Given the description of an element on the screen output the (x, y) to click on. 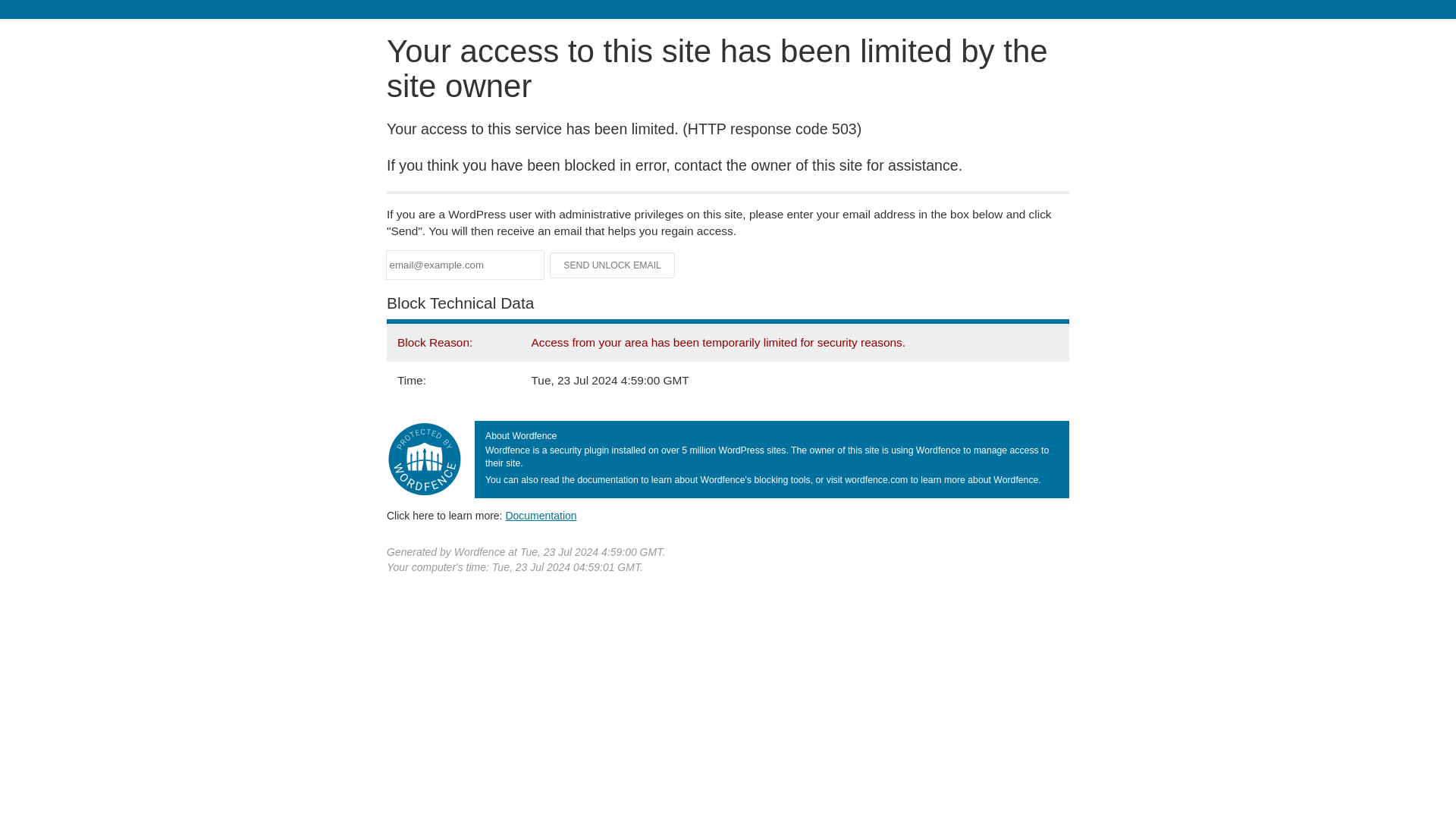
Send Unlock Email (612, 265)
Send Unlock Email (612, 265)
Documentation (540, 515)
